Given the description of an element on the screen output the (x, y) to click on. 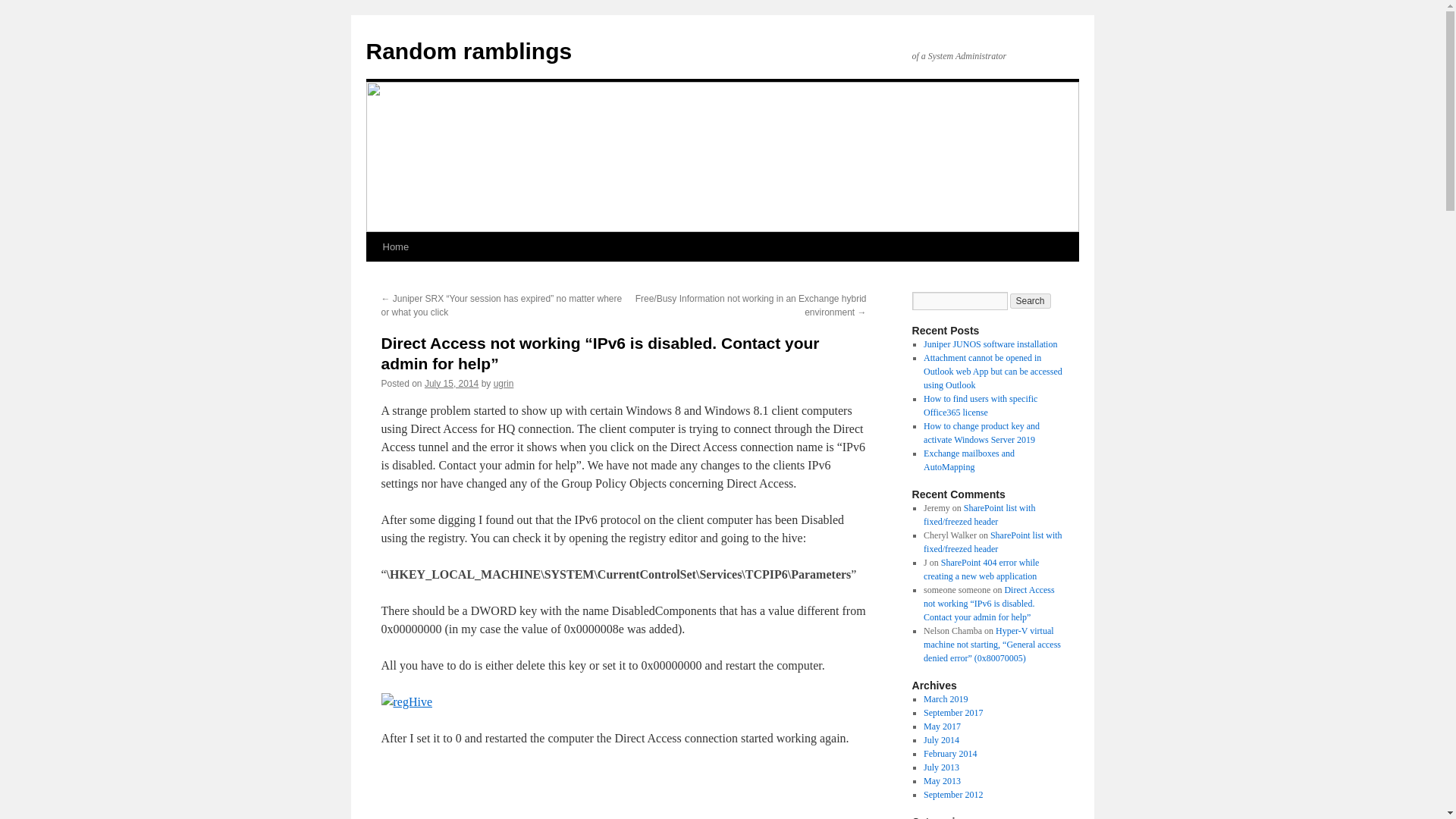
Home (395, 246)
Random ramblings (468, 50)
4:34 pm (452, 383)
View all posts by ugrin (503, 383)
Random ramblings (468, 50)
ugrin (503, 383)
Search (1030, 300)
July 15, 2014 (452, 383)
